Given the description of an element on the screen output the (x, y) to click on. 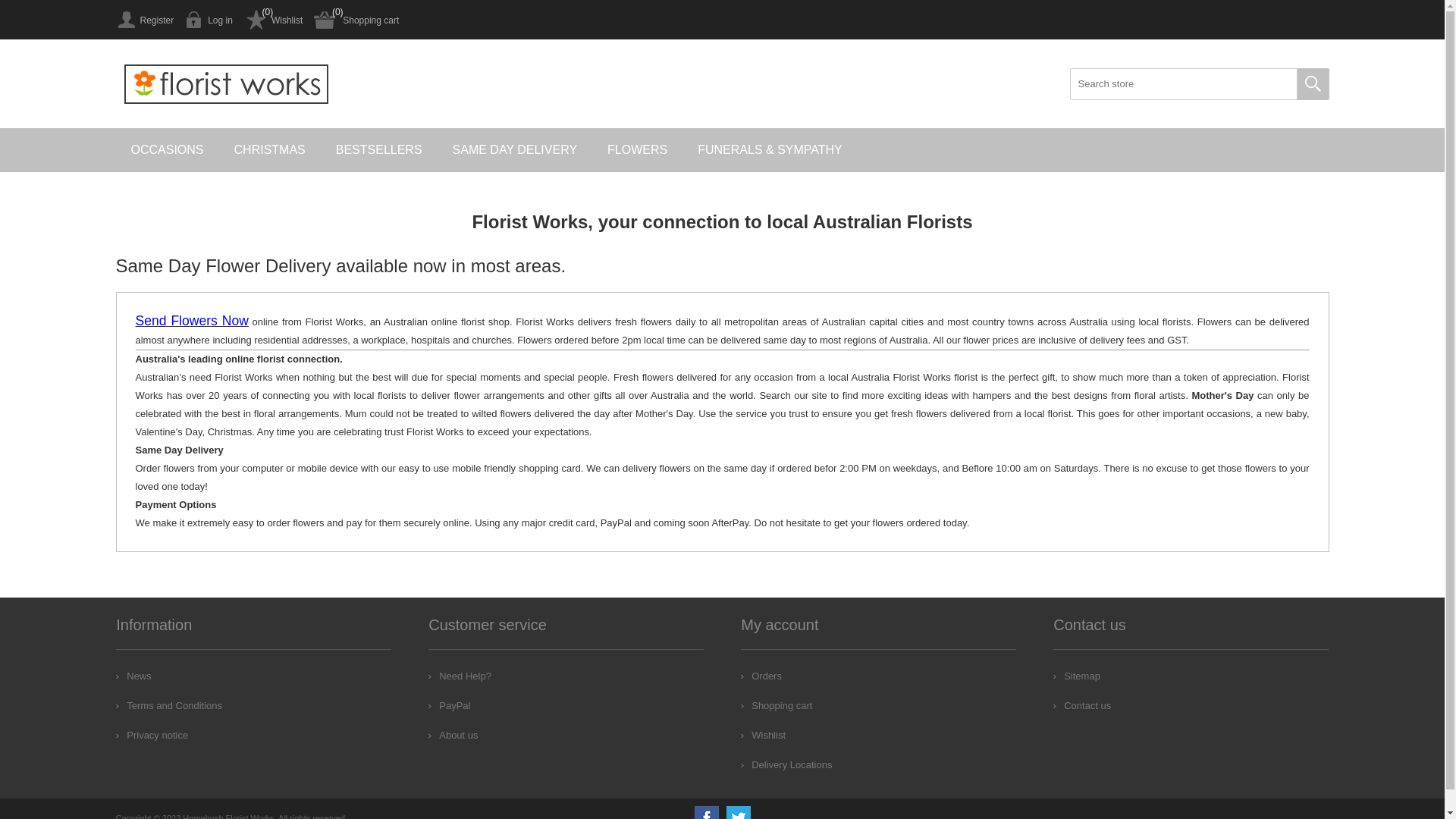
Shopping cart Element type: text (776, 705)
FLOWERS Element type: text (637, 150)
CHRISTMAS Element type: text (269, 150)
PayPal Element type: text (449, 705)
BESTSELLERS Element type: text (378, 150)
OCCASIONS Element type: text (166, 150)
Privacy notice Element type: text (152, 734)
FUNERALS & SYMPATHY Element type: text (769, 150)
Send Flowers Now Element type: text (190, 321)
Wishlist Element type: text (762, 734)
Shopping cart Element type: text (355, 19)
Delivery Locations Element type: text (785, 764)
Orders Element type: text (760, 675)
Register Element type: text (144, 19)
Wishlist Element type: text (273, 19)
News Element type: text (133, 675)
Contact us Element type: text (1081, 705)
Need Help? Element type: text (459, 675)
Log in Element type: text (208, 19)
Terms and Conditions Element type: text (169, 705)
Search Element type: text (1312, 84)
About us Element type: text (452, 734)
Sitemap Element type: text (1076, 675)
SAME DAY DELIVERY Element type: text (515, 150)
